Given the description of an element on the screen output the (x, y) to click on. 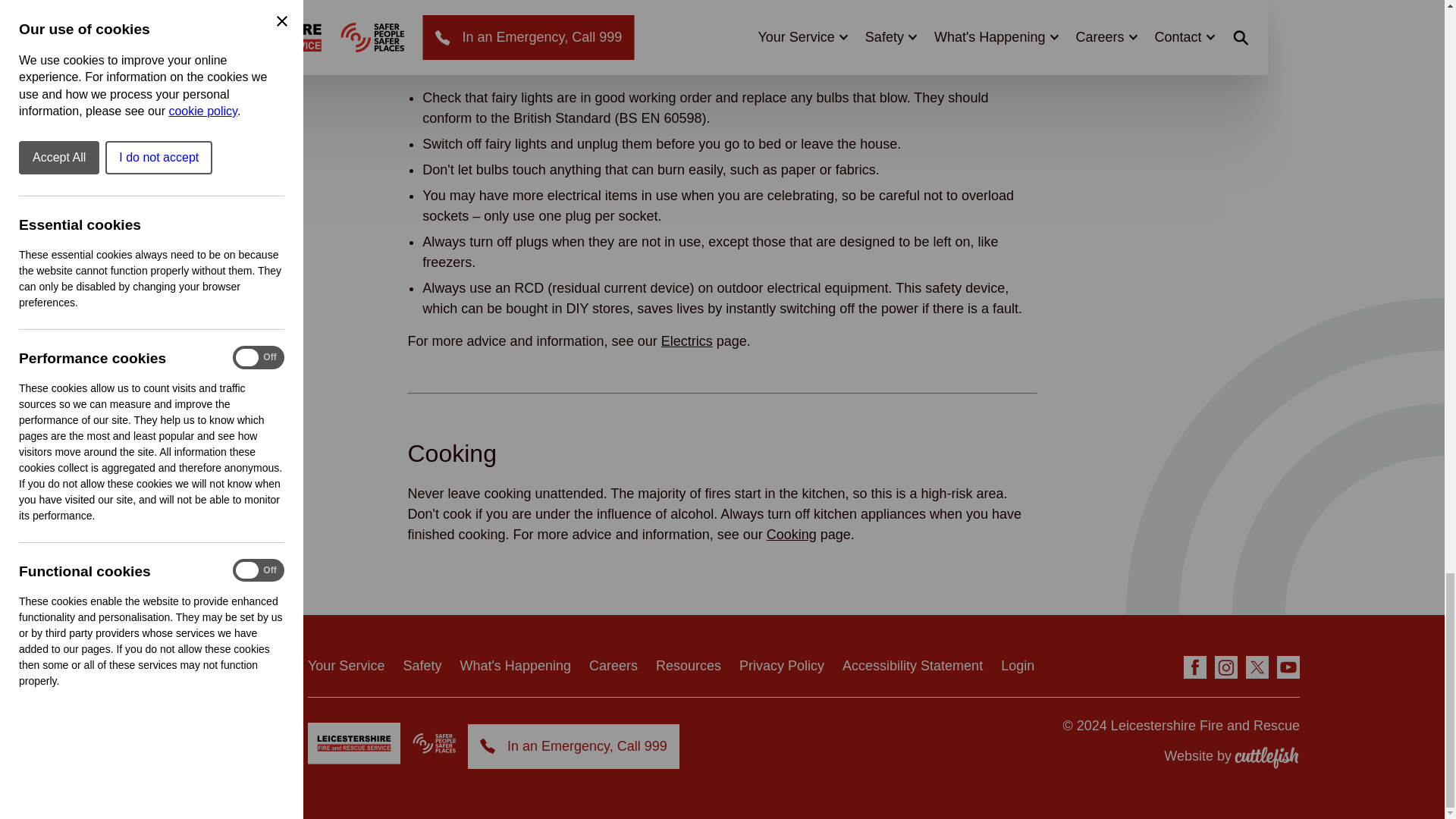
Safer Plaaces Logo (433, 743)
